Given the description of an element on the screen output the (x, y) to click on. 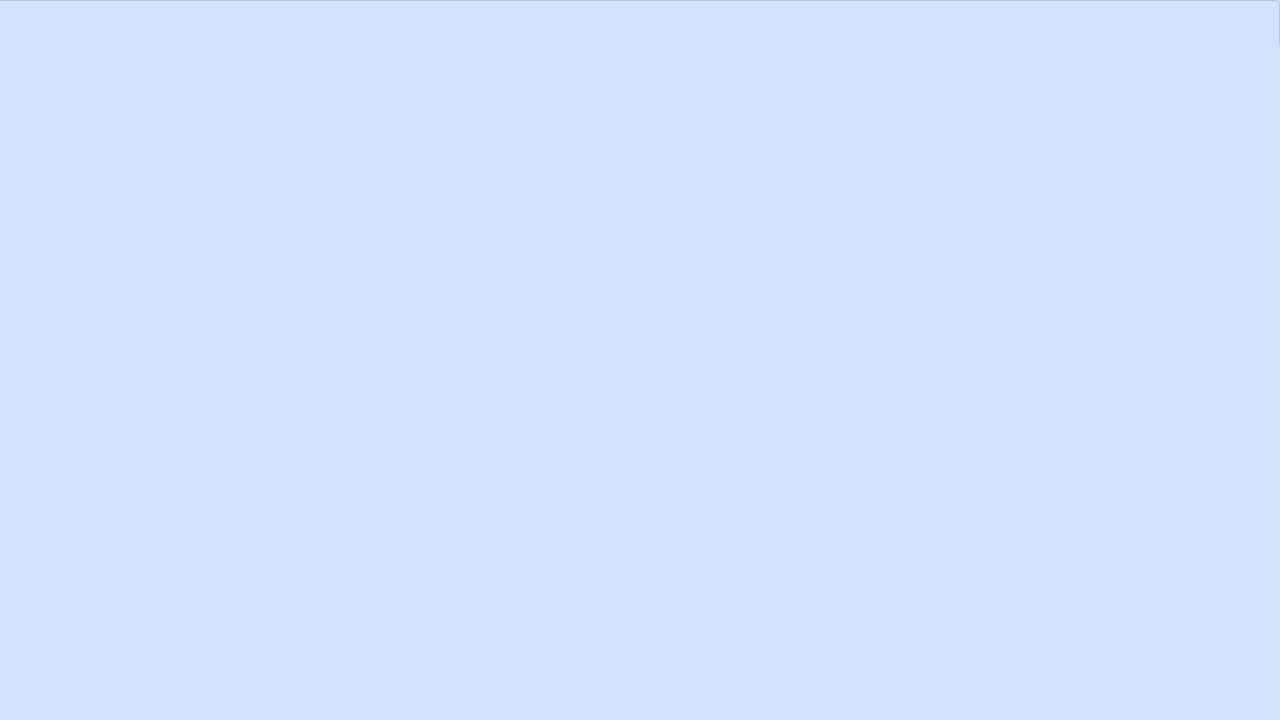
Use another account (153, 430)
Customize your Chrome profile (310, 582)
Manage your Google Account (310, 533)
Sync and Google services (310, 486)
Import bookmarks and settings (310, 630)
